Given the description of an element on the screen output the (x, y) to click on. 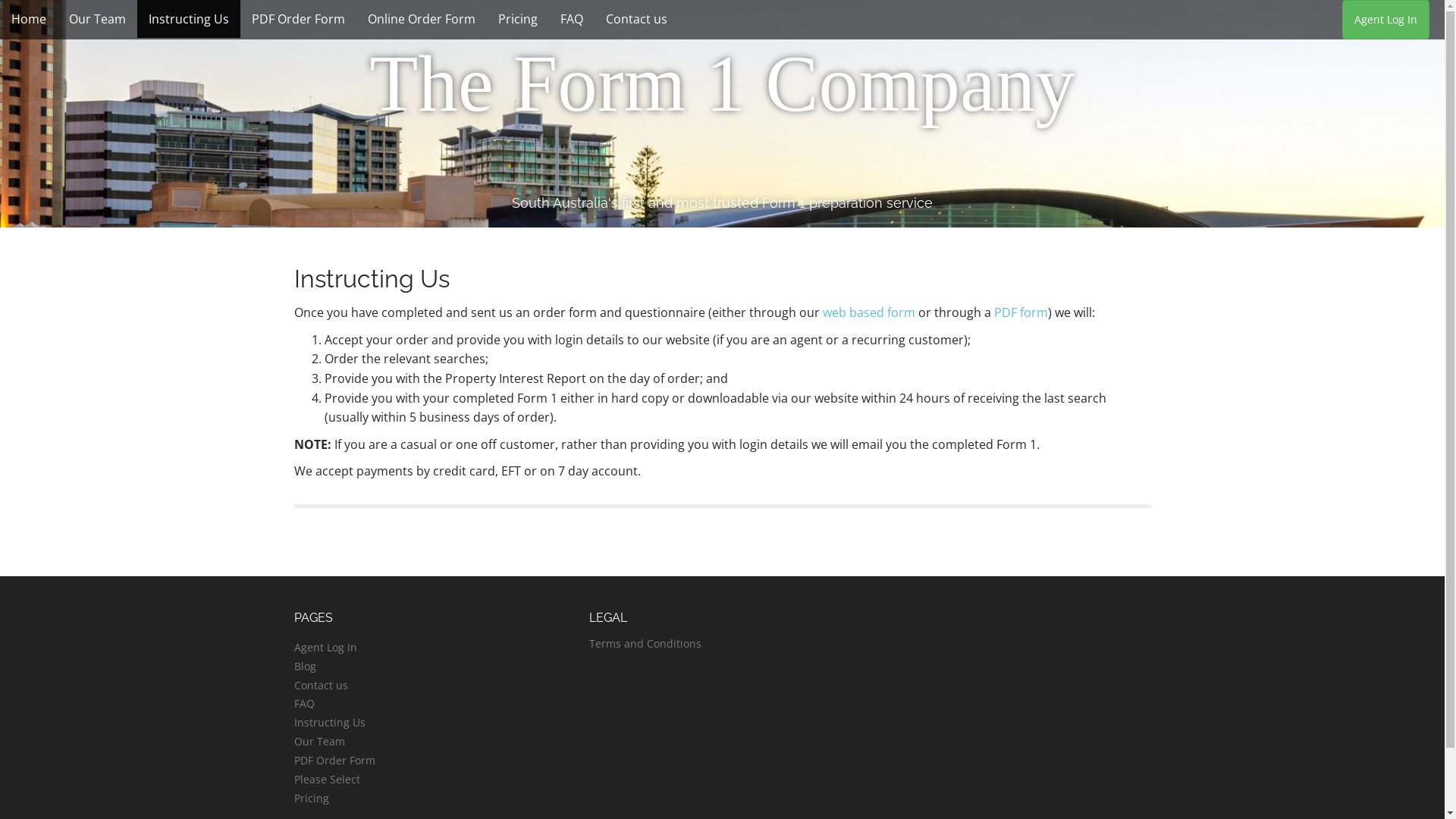
web based form Element type: text (868, 312)
PDF Order Form Element type: text (334, 760)
Terms and Conditions Element type: text (645, 643)
FAQ Element type: text (304, 703)
Our Team Element type: text (319, 741)
PDF Order Form Element type: text (298, 18)
PDF form Element type: text (1020, 312)
Pricing Element type: text (311, 797)
Agent Log In Element type: text (1385, 19)
FAQ Element type: text (571, 18)
The Form 1 Company Element type: text (722, 84)
Our Team Element type: text (97, 18)
Online Order Form Element type: text (421, 18)
Home Element type: text (28, 18)
Agent Log In Element type: text (325, 647)
Pricing Element type: text (517, 18)
Contact us Element type: text (321, 684)
Instructing Us Element type: text (329, 722)
Blog Element type: text (305, 665)
Please Select Element type: text (327, 778)
Contact us Element type: text (636, 18)
Instructing Us Element type: text (188, 18)
